Given the description of an element on the screen output the (x, y) to click on. 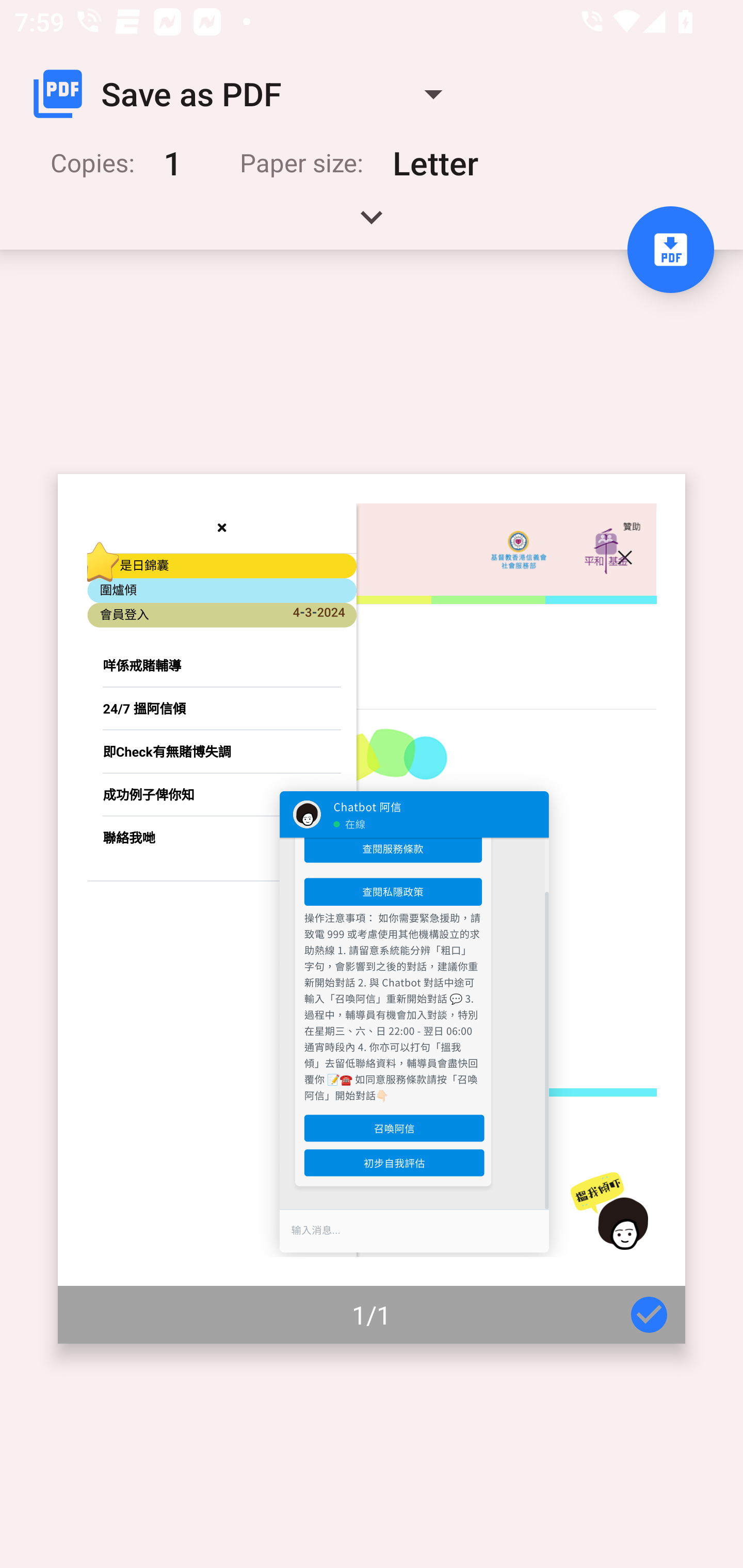
Save as PDF (245, 93)
Expand handle (371, 224)
Save to PDF (670, 249)
Page 1 of 1 1/1 (371, 908)
